Given the description of an element on the screen output the (x, y) to click on. 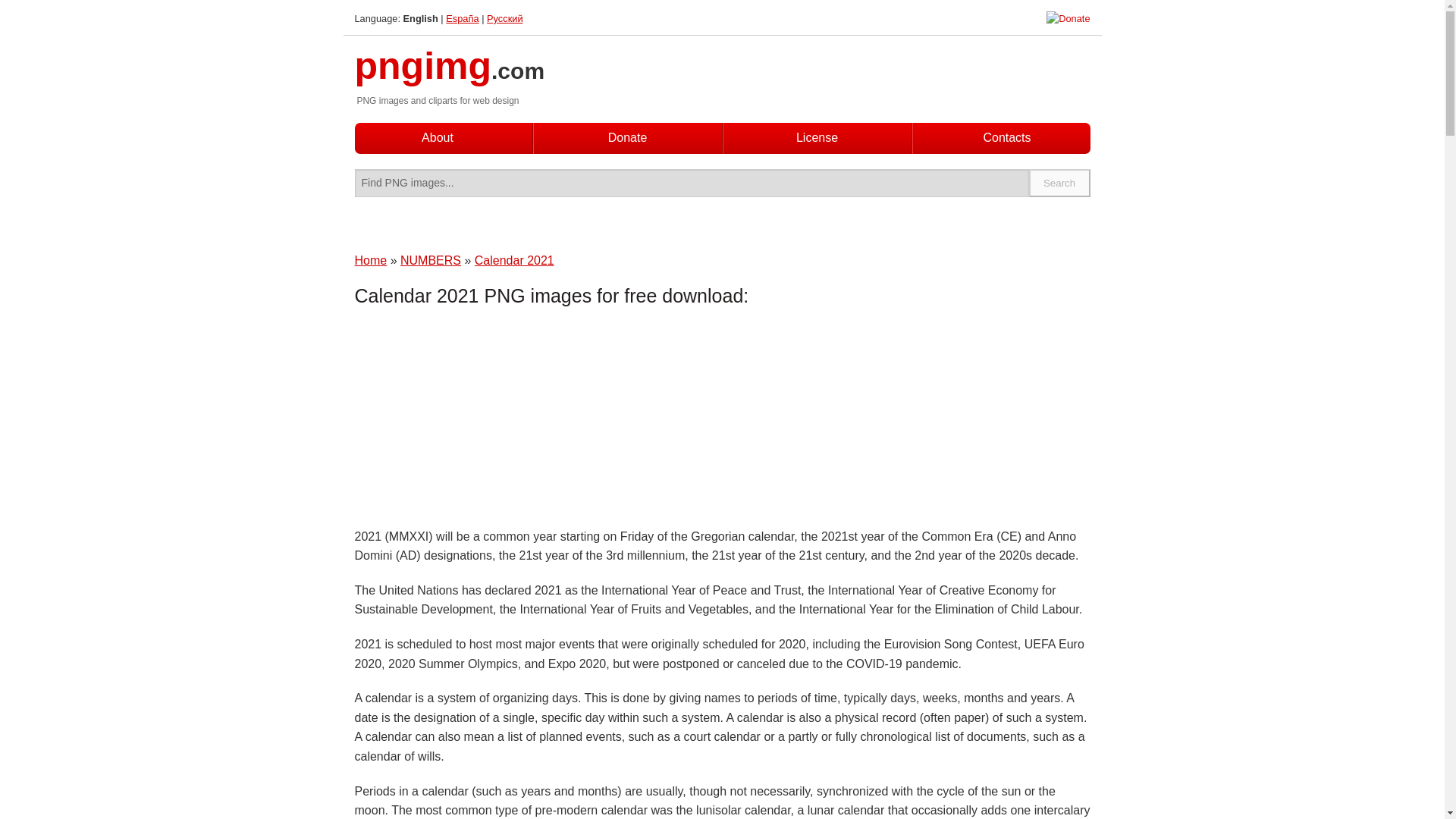
About (437, 137)
Contacts (1006, 138)
Search (1059, 182)
pngimg.com (449, 74)
NUMBERS (430, 259)
Calendar 2021 (514, 259)
Donate (627, 137)
Home (371, 259)
License (817, 137)
Search (1059, 182)
